Given the description of an element on the screen output the (x, y) to click on. 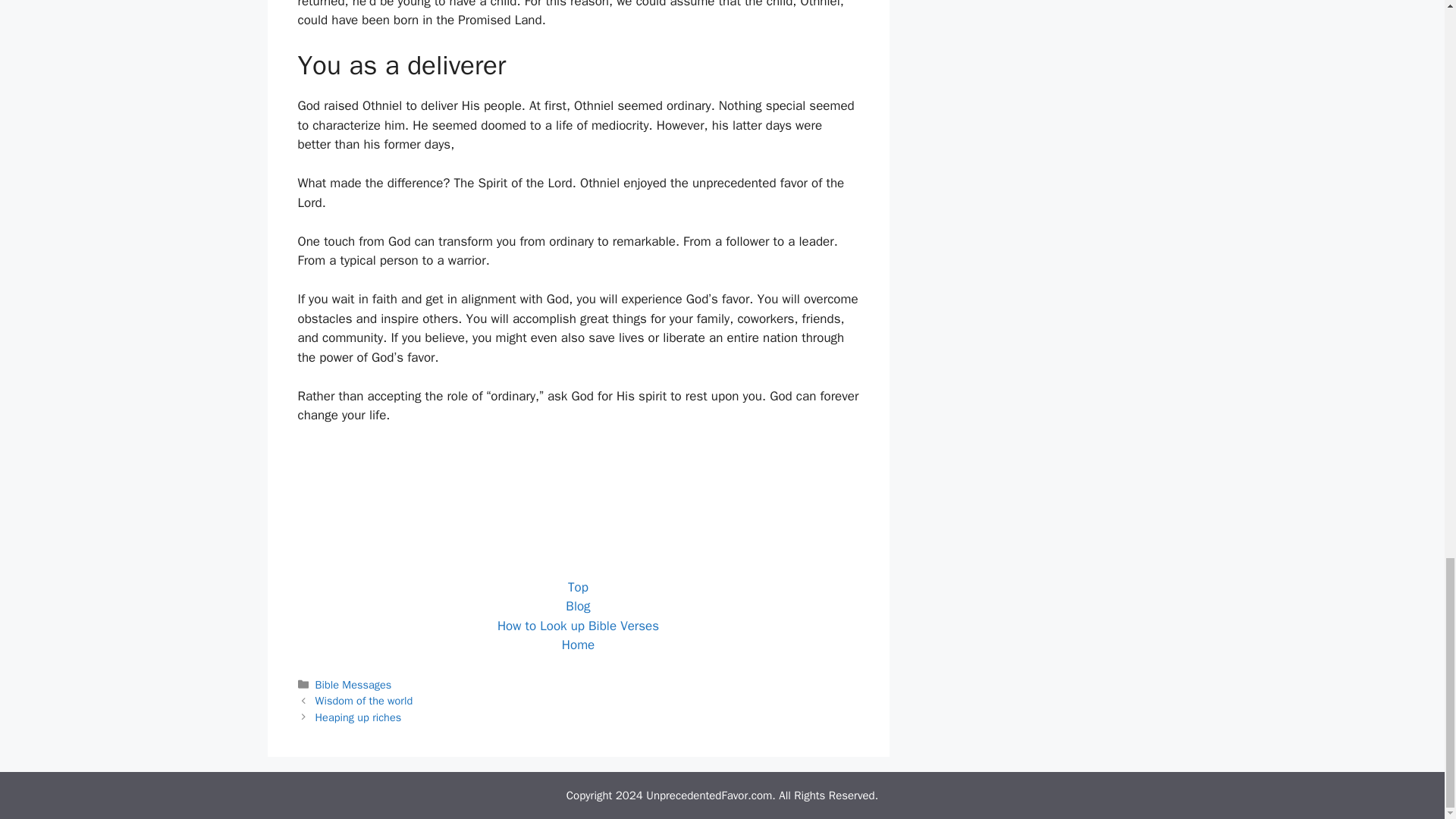
Top (577, 587)
How to Look up Bible Verses (578, 625)
Blog (577, 606)
Wisdom of the world (364, 700)
Bible Messages (353, 684)
Heaping up riches (358, 716)
Home (578, 644)
